Given the description of an element on the screen output the (x, y) to click on. 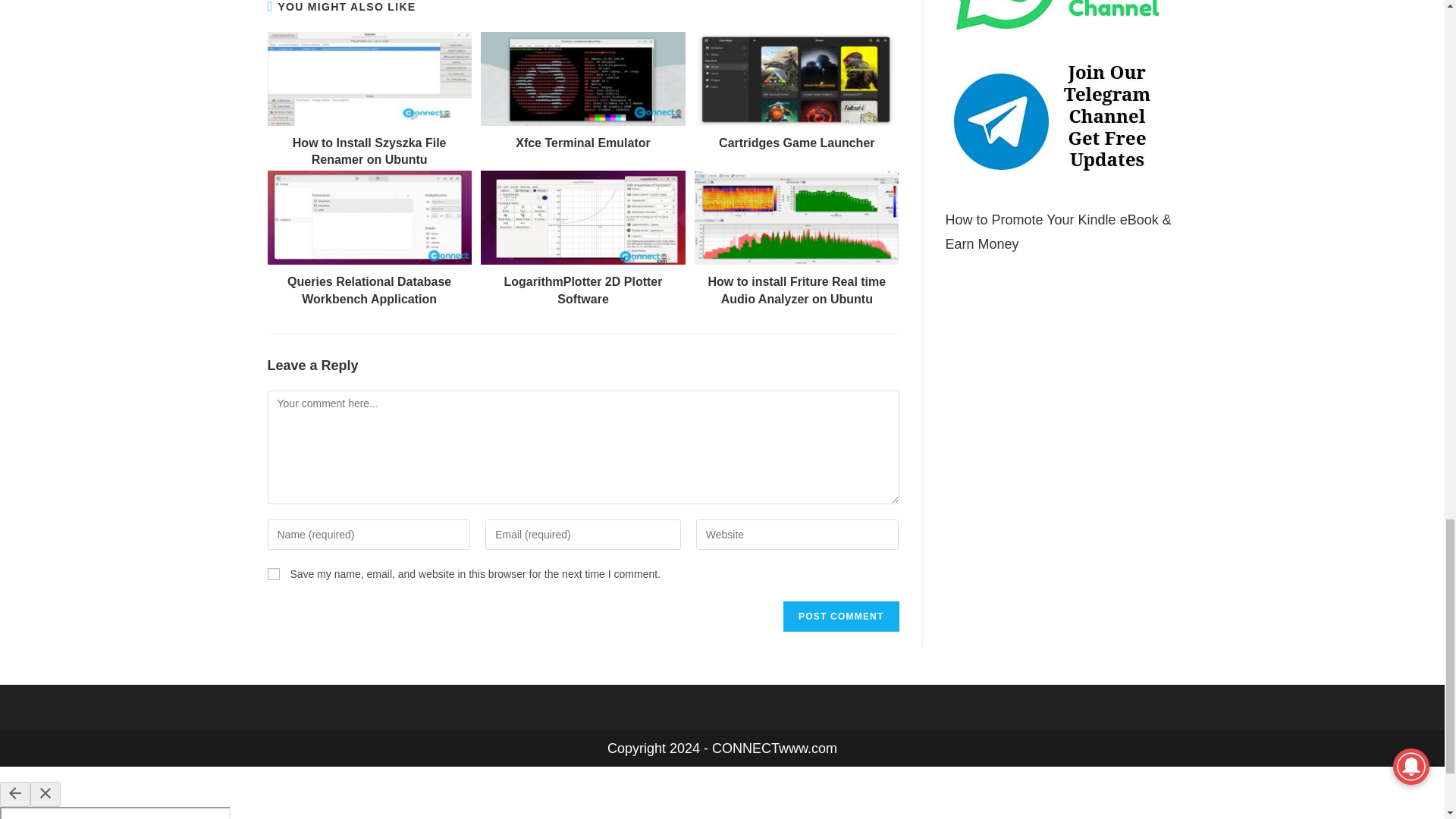
yes (272, 573)
Post Comment (840, 616)
